Given the description of an element on the screen output the (x, y) to click on. 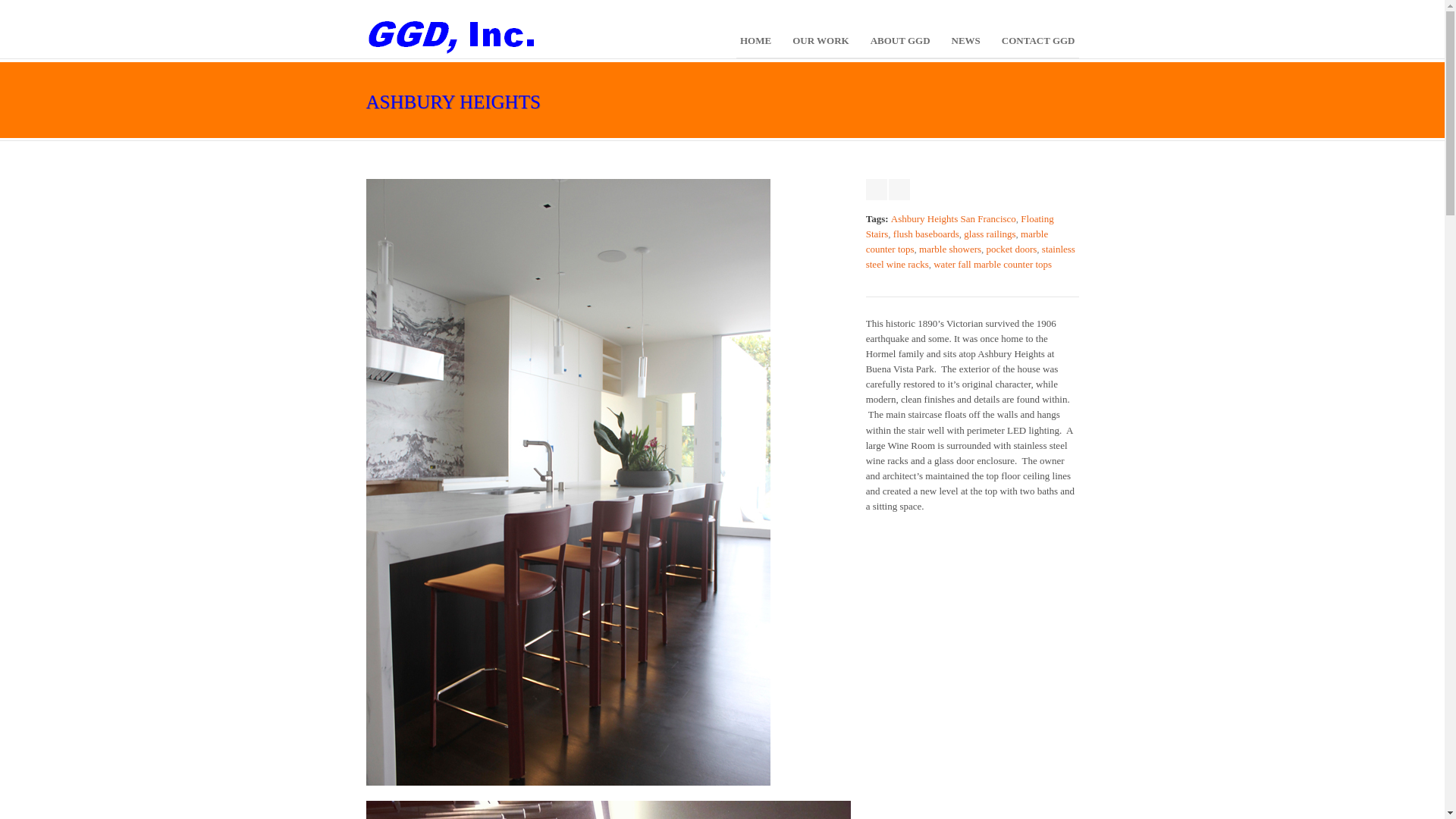
OUR WORK (821, 40)
Floating Stairs (960, 225)
Ashbury Heights San Francisco (953, 218)
water fall marble counter tops (992, 264)
marble counter tops (957, 241)
glass railings (988, 233)
ABOUT GGD (900, 40)
NEWS (965, 40)
stainless steel wine racks (970, 256)
pocket doors (1011, 248)
